Given the description of an element on the screen output the (x, y) to click on. 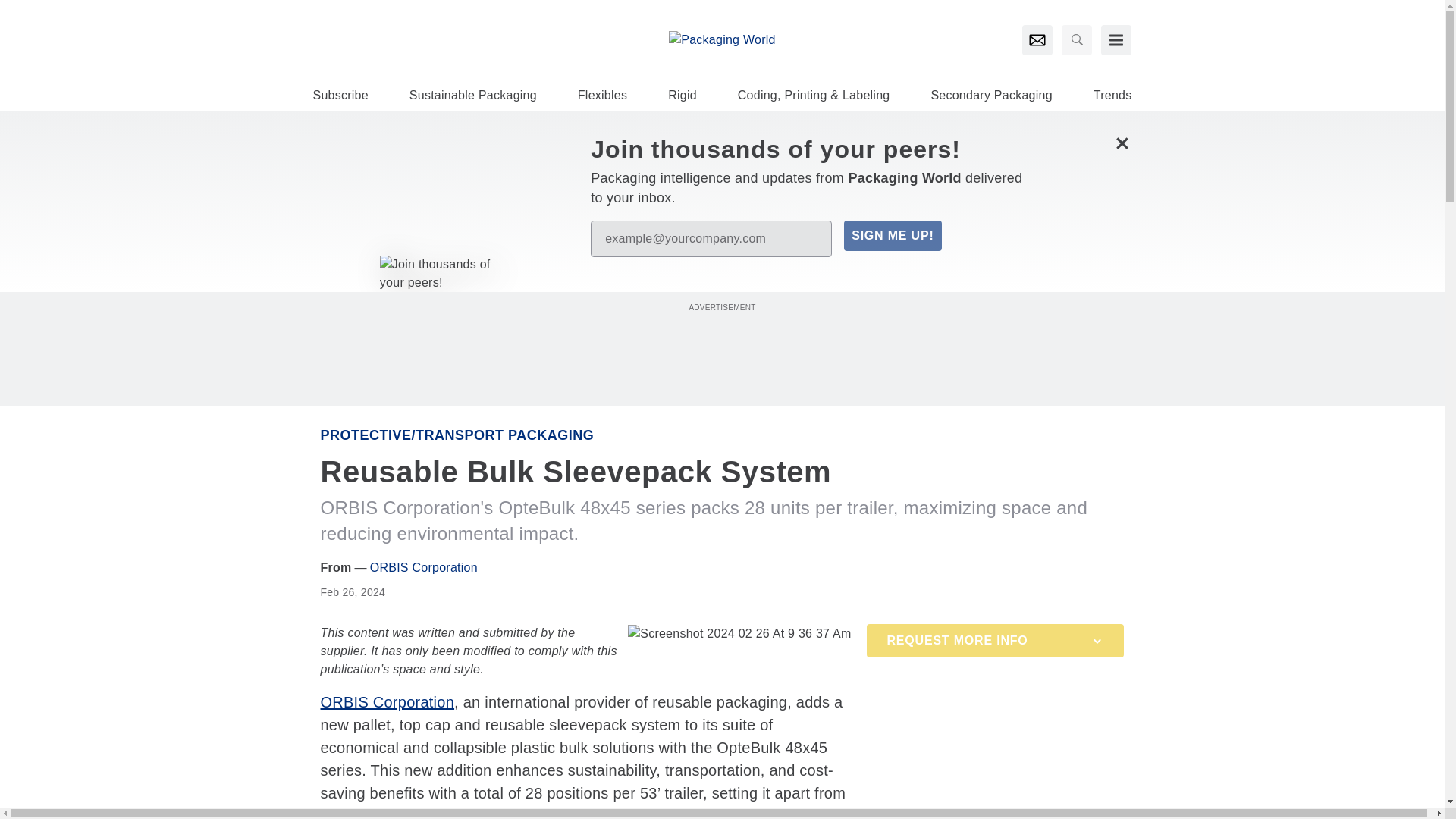
Flexibles (602, 95)
SIGN ME UP! (892, 235)
Secondary Packaging (990, 95)
Sustainable Packaging (473, 95)
Trends (1112, 95)
Rigid (682, 95)
Subscribe (340, 95)
